Given the description of an element on the screen output the (x, y) to click on. 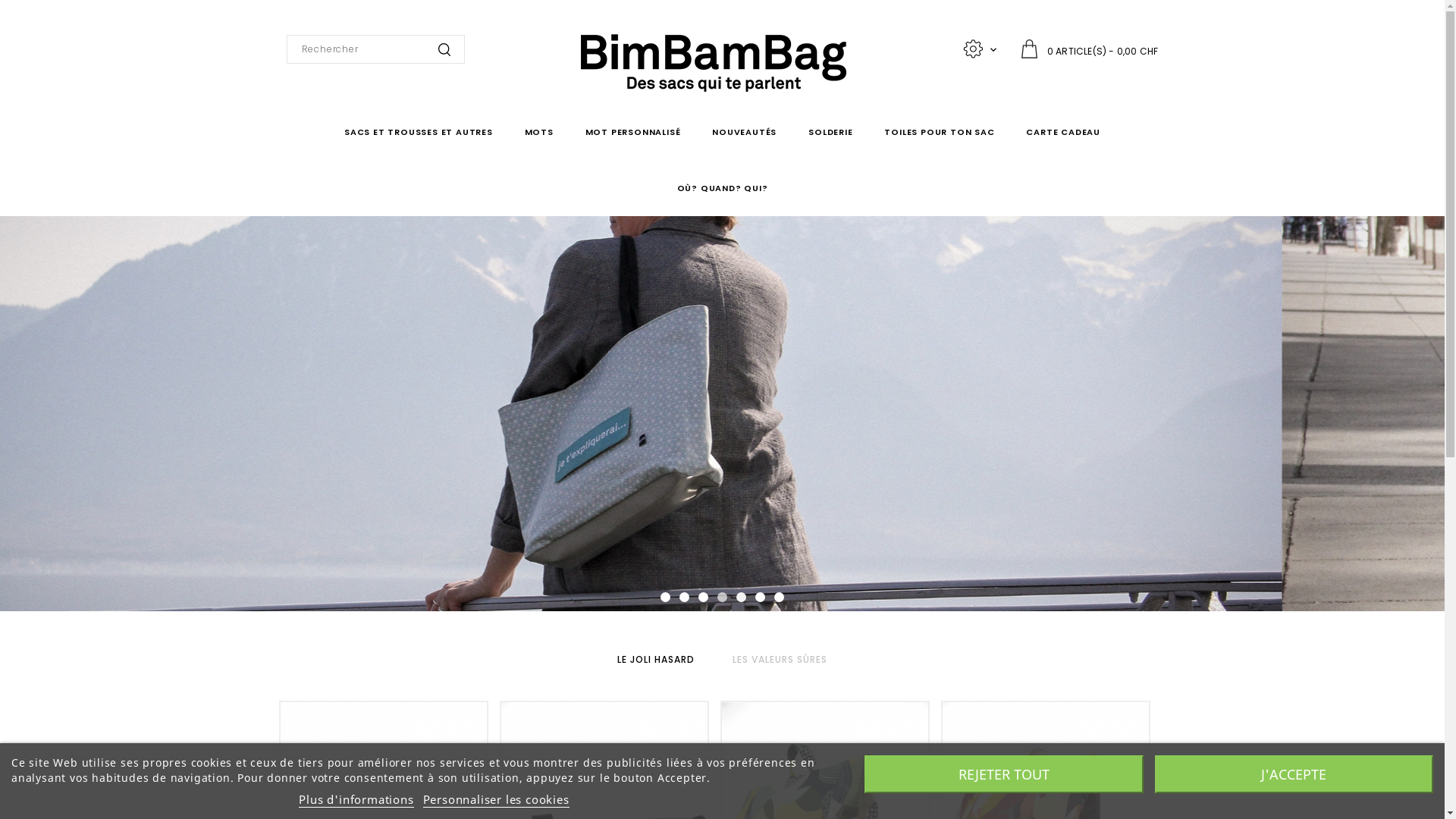
4 Element type: text (722, 597)
5 Element type: text (741, 597)
Rechercher Element type: text (443, 49)
Personnaliser les cookies Element type: text (496, 799)
6 Element type: text (760, 597)
3 Element type: text (703, 597)
2 Element type: text (684, 597)
Plus d'informations Element type: text (355, 799)
SACS ET TROUSSES ET AUTRES Element type: text (418, 131)
7 Element type: text (779, 597)
TOILES POUR TON SAC Element type: text (938, 131)
MOTS Element type: text (539, 131)
shopping_cart
0 ARTICLE(S) - 0,00 CHF Element type: text (1088, 49)
REJETER TOUT Element type: text (1003, 774)
J'ACCEPTE Element type: text (1293, 774)
LE JOLI HASARD Element type: text (655, 658)
CARTE CADEAU Element type: text (1062, 131)
1 Element type: text (665, 597)
SOLDERIE Element type: text (829, 131)
